Given the description of an element on the screen output the (x, y) to click on. 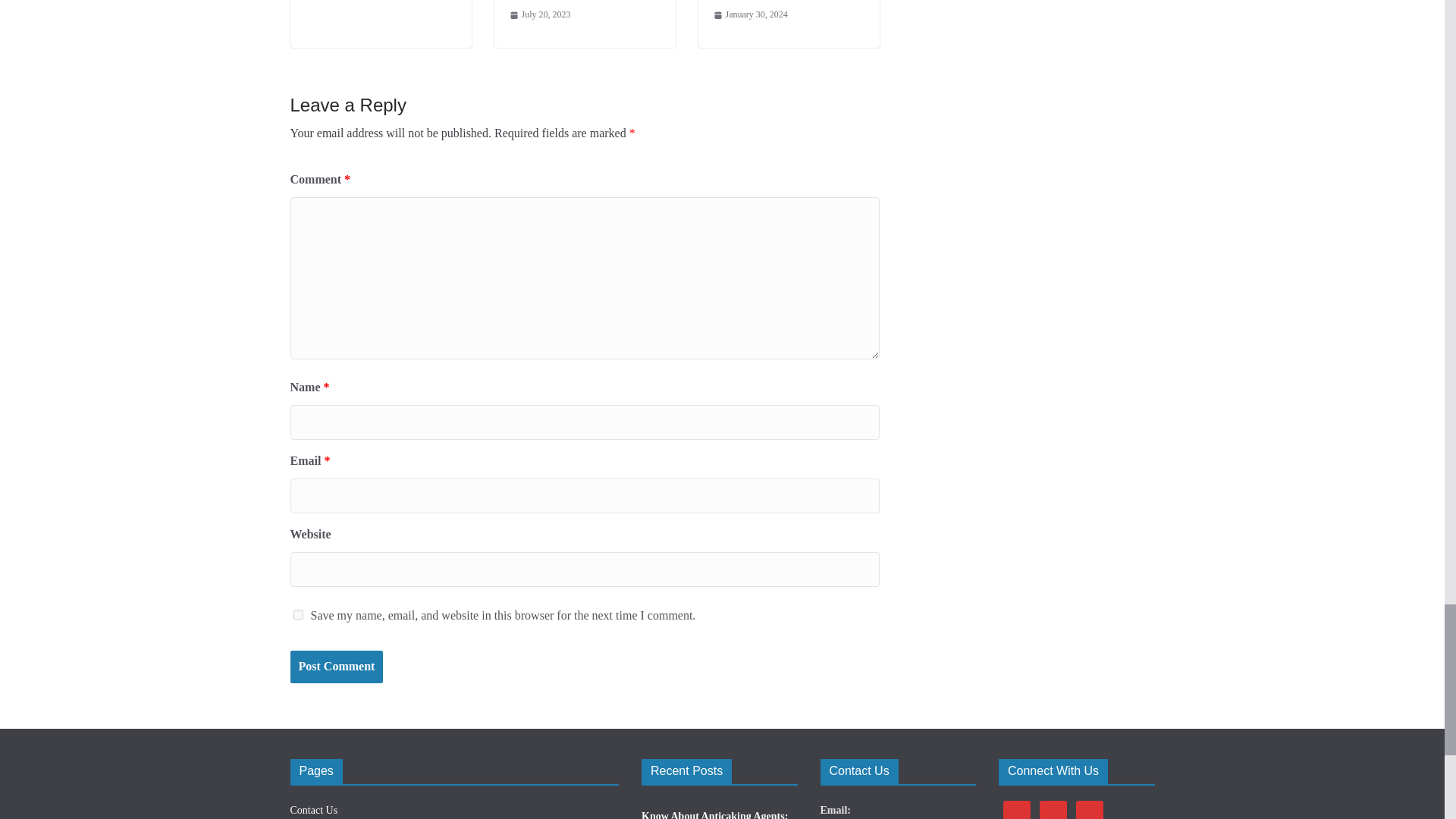
Post Comment (335, 666)
yes (297, 614)
July 20, 2023 (539, 14)
